Given the description of an element on the screen output the (x, y) to click on. 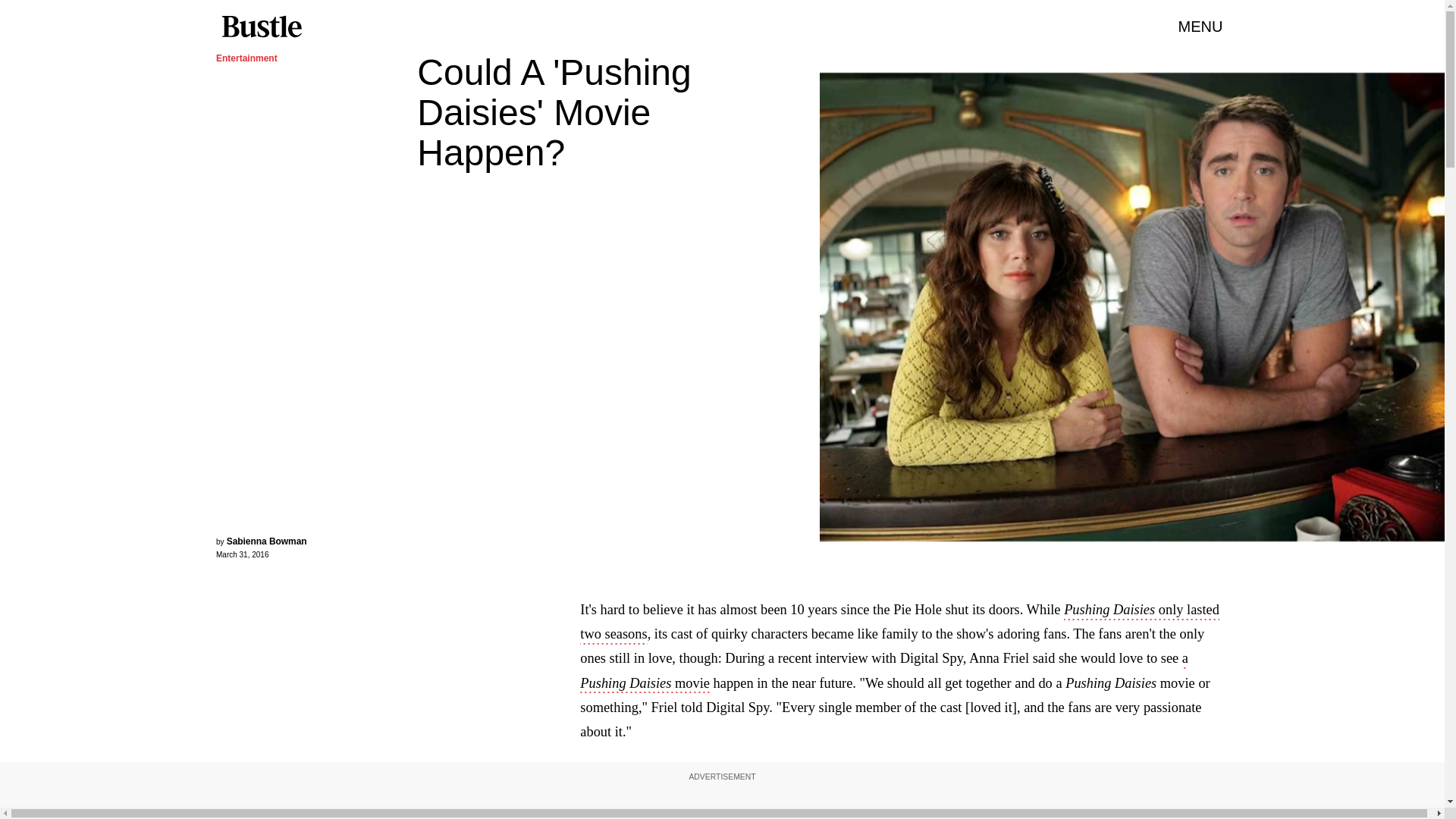
Pushing Daisies only lasted two seasons (899, 622)
Sabienna Bowman (267, 541)
a Pushing Daisies movie (883, 671)
Bustle (261, 26)
